Given the description of an element on the screen output the (x, y) to click on. 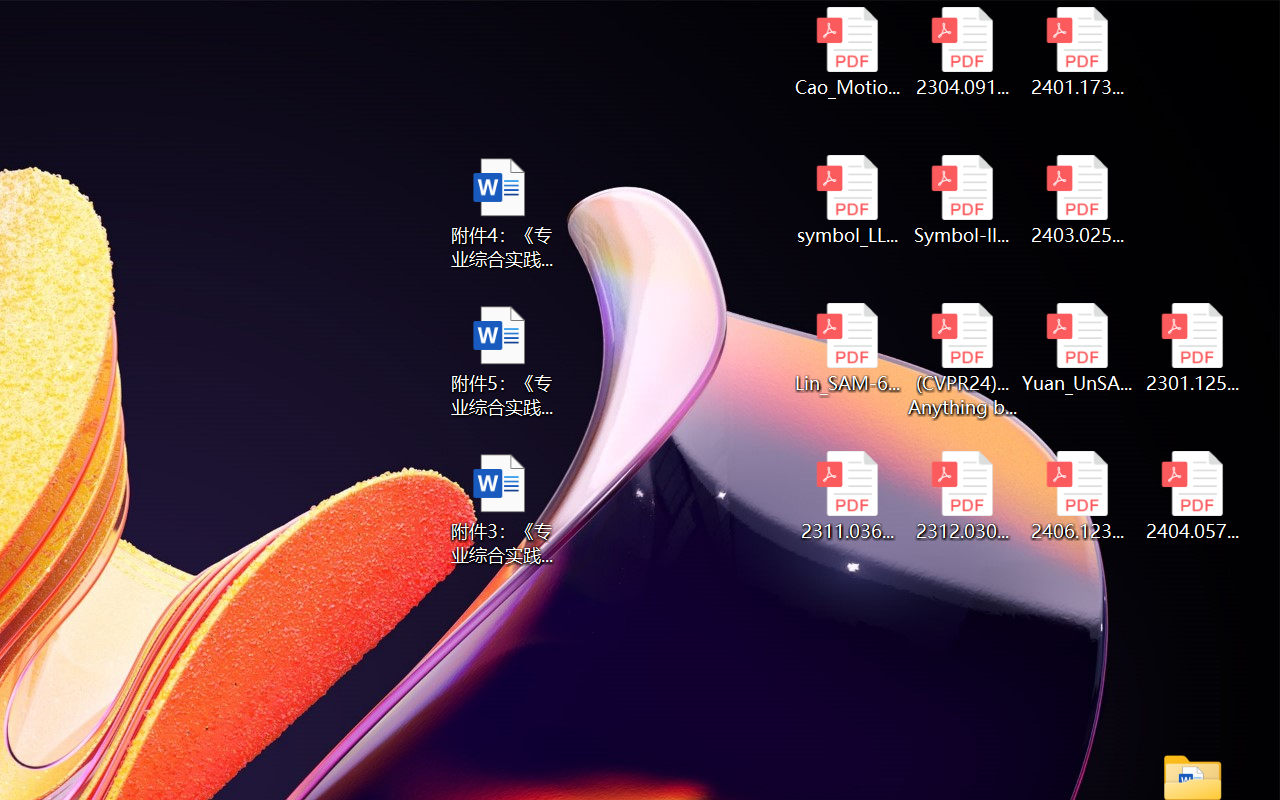
2401.17399v1.pdf (1077, 52)
2301.12597v3.pdf (1192, 348)
2406.12373v2.pdf (1077, 496)
Symbol-llm-v2.pdf (962, 200)
2312.03032v2.pdf (962, 496)
symbol_LLM.pdf (846, 200)
2311.03658v2.pdf (846, 496)
(CVPR24)Matching Anything by Segmenting Anything.pdf (962, 360)
2304.09121v3.pdf (962, 52)
2403.02502v1.pdf (1077, 200)
